Given the description of an element on the screen output the (x, y) to click on. 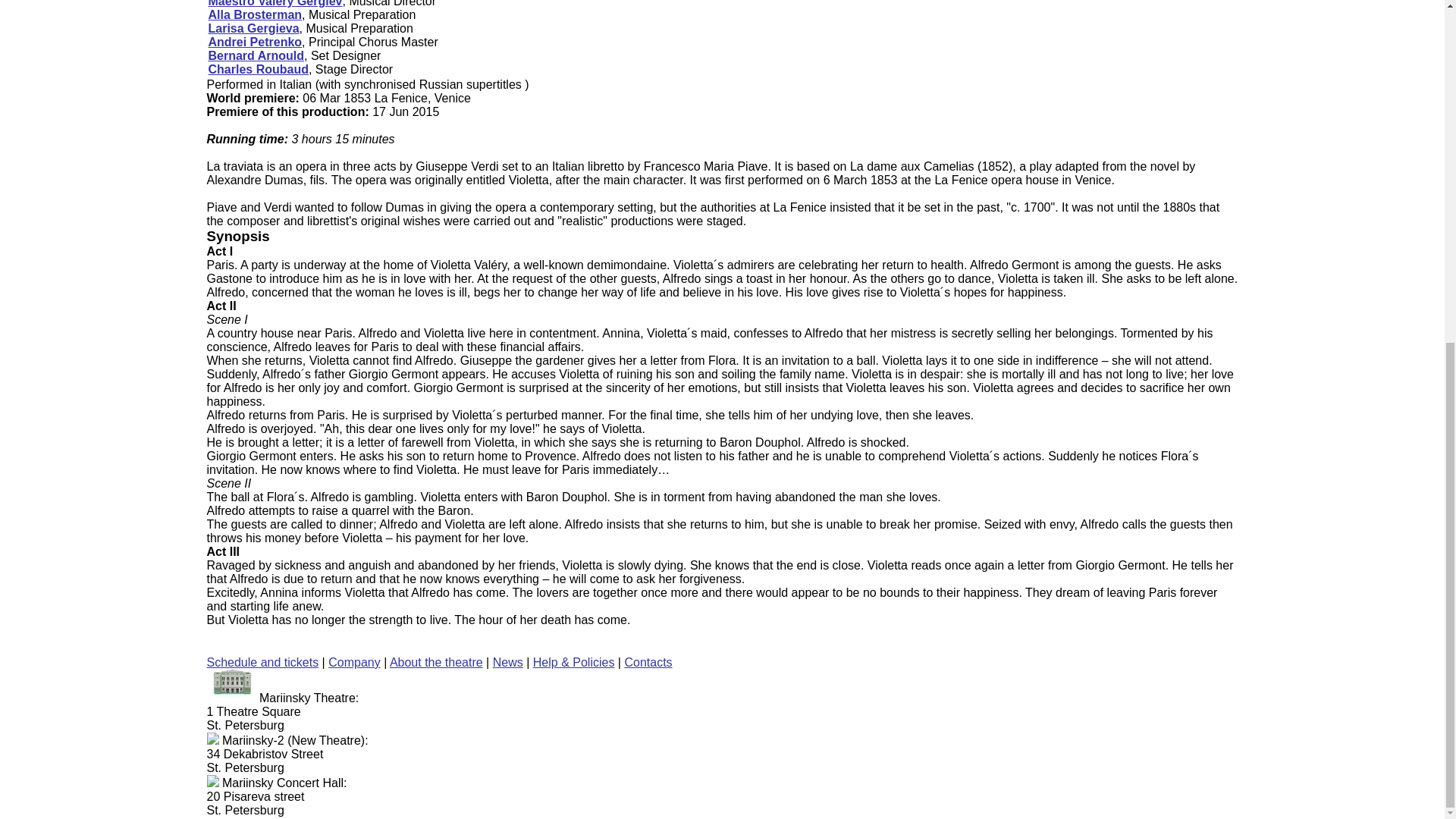
News (507, 662)
About the theatre (436, 662)
Bernard Arnould (256, 55)
Alla Brosterman (254, 14)
Andrei Petrenko (254, 42)
Contacts (647, 662)
Larisa Gergieva (253, 28)
Maestro Valery Gergiev (275, 3)
Charles Roubaud (257, 69)
Company (354, 662)
Schedule and tickets (262, 662)
